Given the description of an element on the screen output the (x, y) to click on. 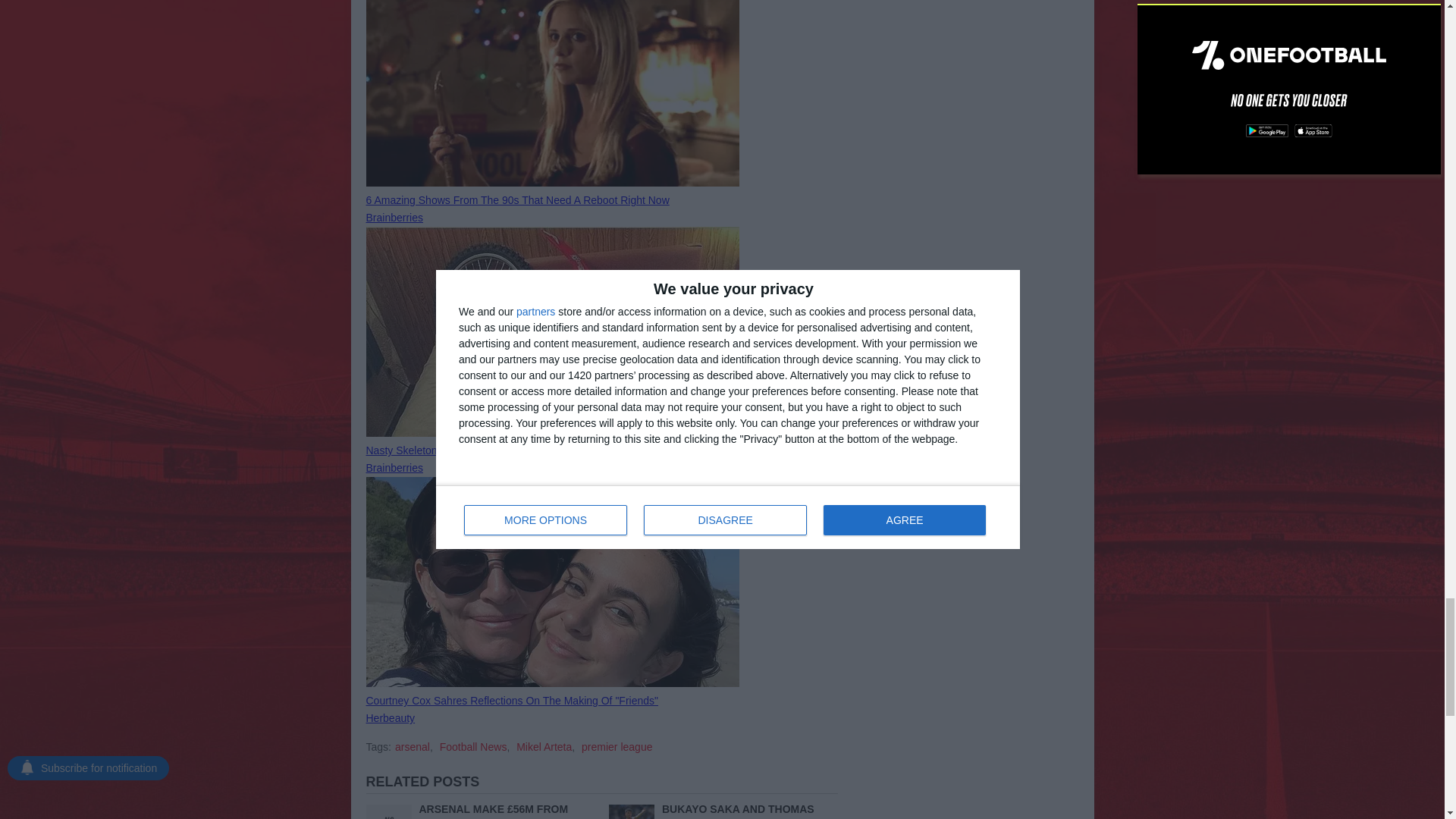
premier league (616, 746)
Football News (472, 746)
Mikel Arteta (544, 746)
arsenal (411, 746)
